Given the description of an element on the screen output the (x, y) to click on. 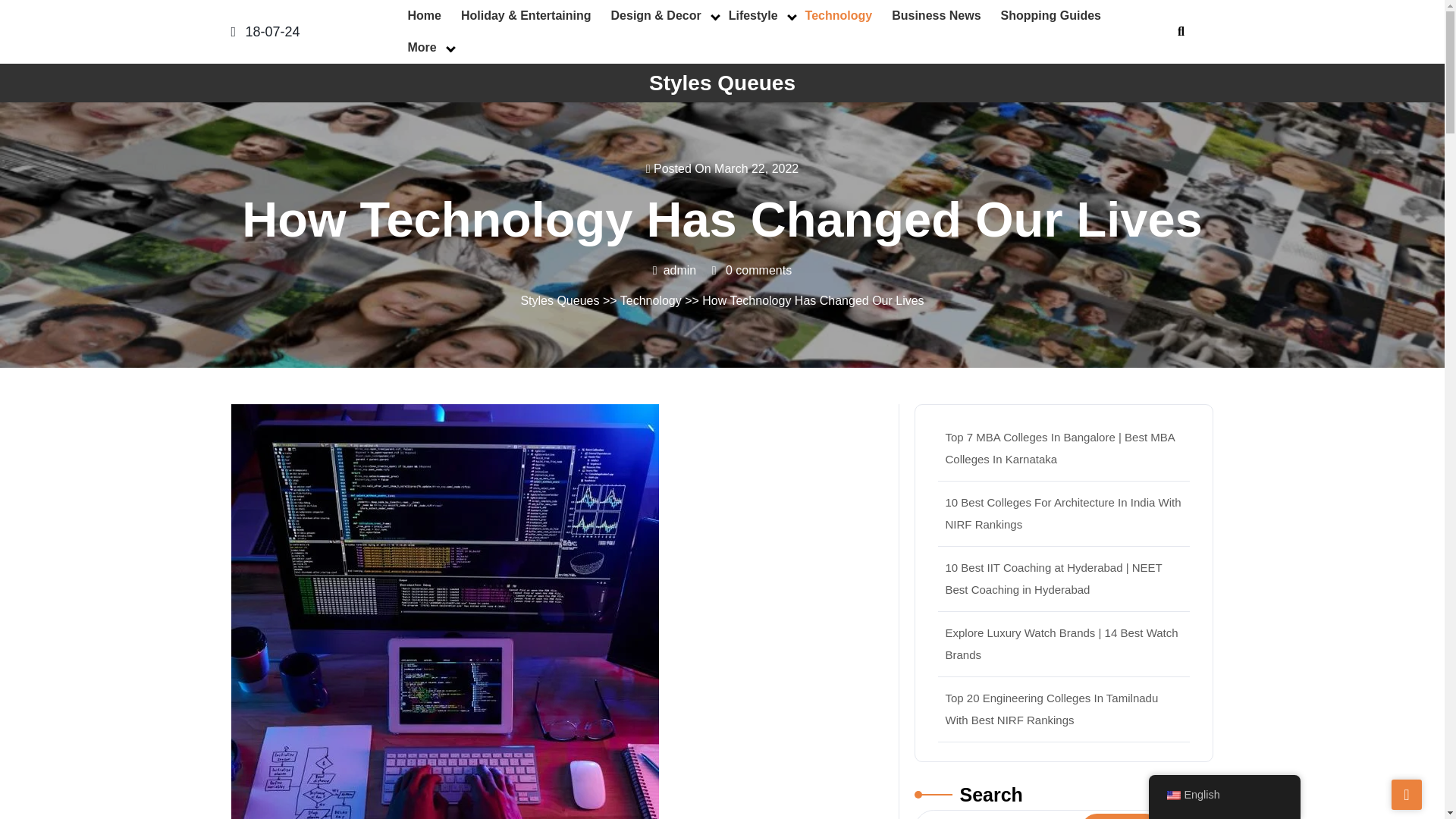
Shopping Guides (1050, 15)
Styles Queues (721, 83)
Business News (936, 15)
More (421, 47)
Styles Queues (558, 300)
Styles Queues (721, 83)
Technology (650, 300)
Technology (838, 15)
Home (423, 15)
English (1172, 795)
Lifestyle (753, 15)
